Given the description of an element on the screen output the (x, y) to click on. 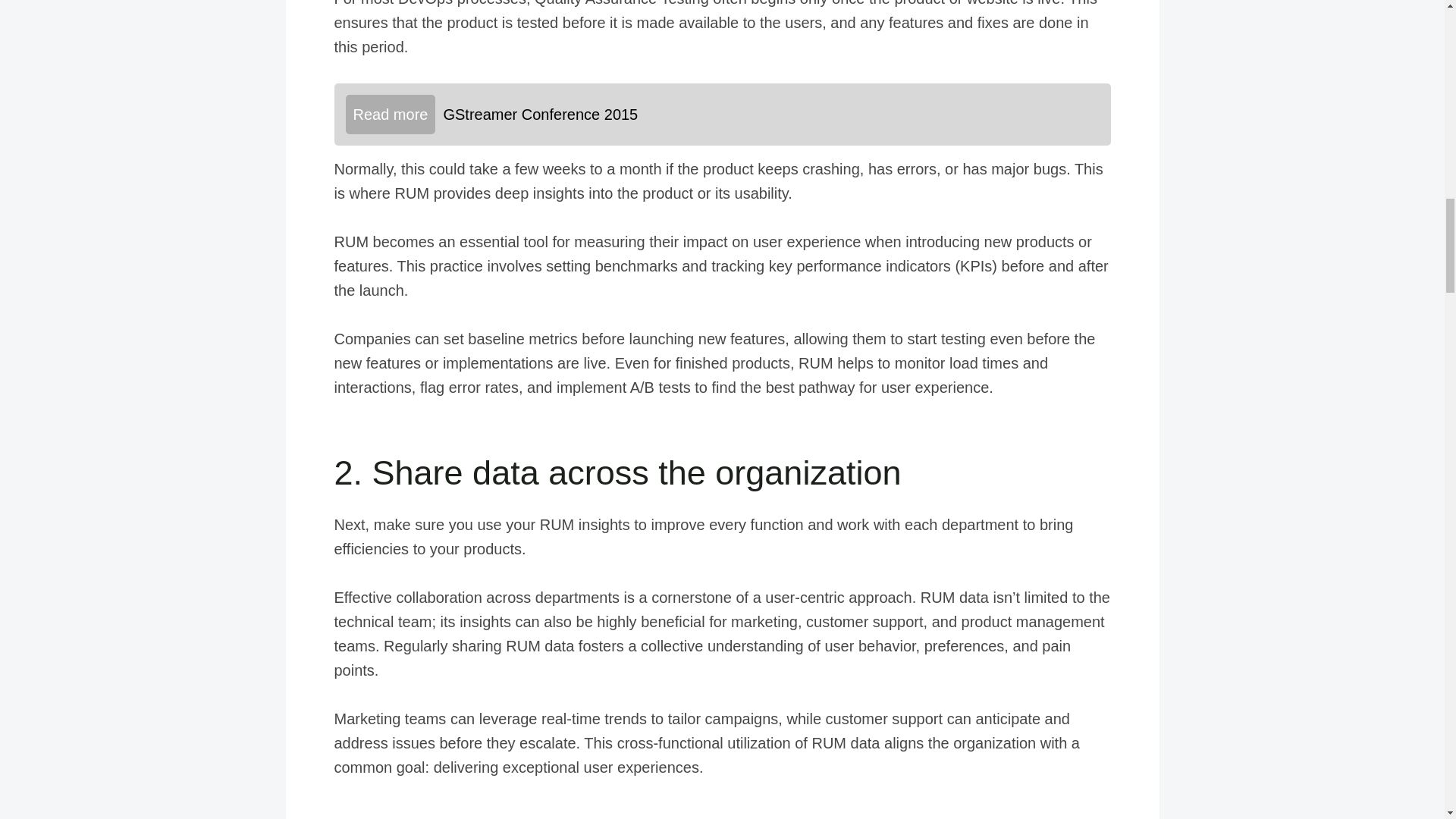
Read moreGStreamer Conference 2015 (721, 114)
